Given the description of an element on the screen output the (x, y) to click on. 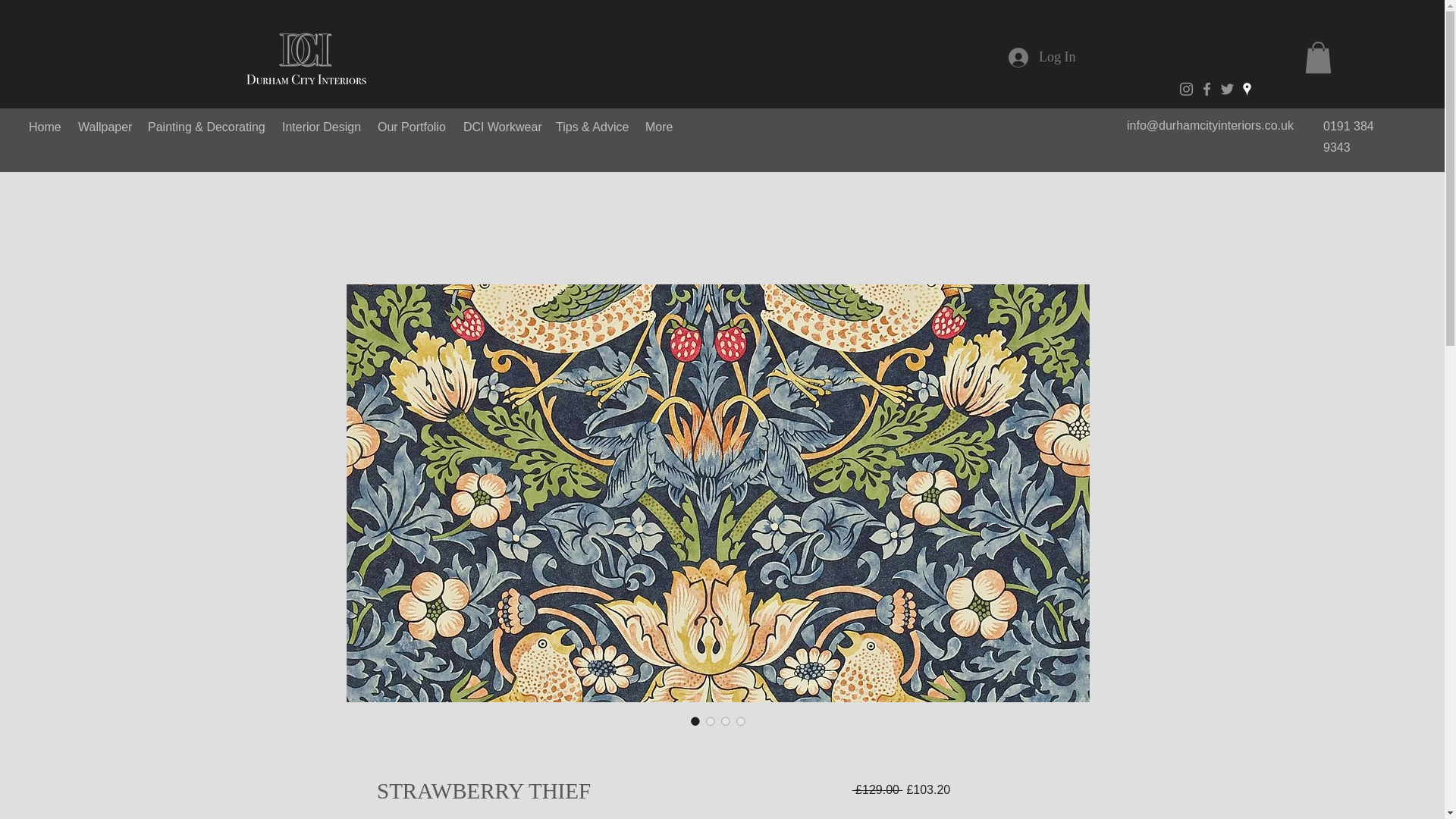
Log In (1041, 57)
Our Portfolio (412, 127)
Wallpaper (104, 127)
Home (45, 127)
DCI Workwear (501, 127)
Interior Design (322, 127)
